Given the description of an element on the screen output the (x, y) to click on. 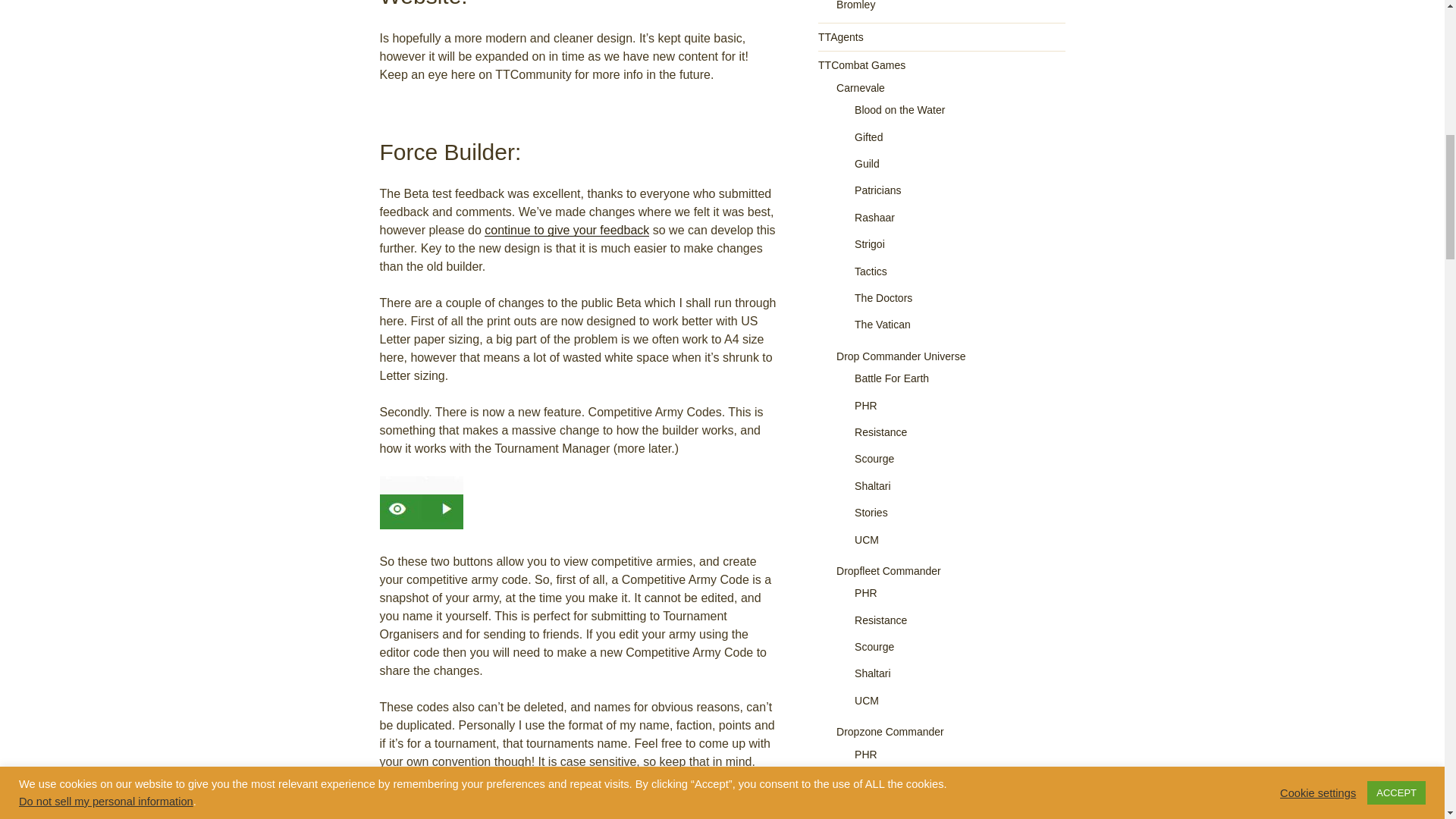
continue to give your feedback (566, 229)
